Given the description of an element on the screen output the (x, y) to click on. 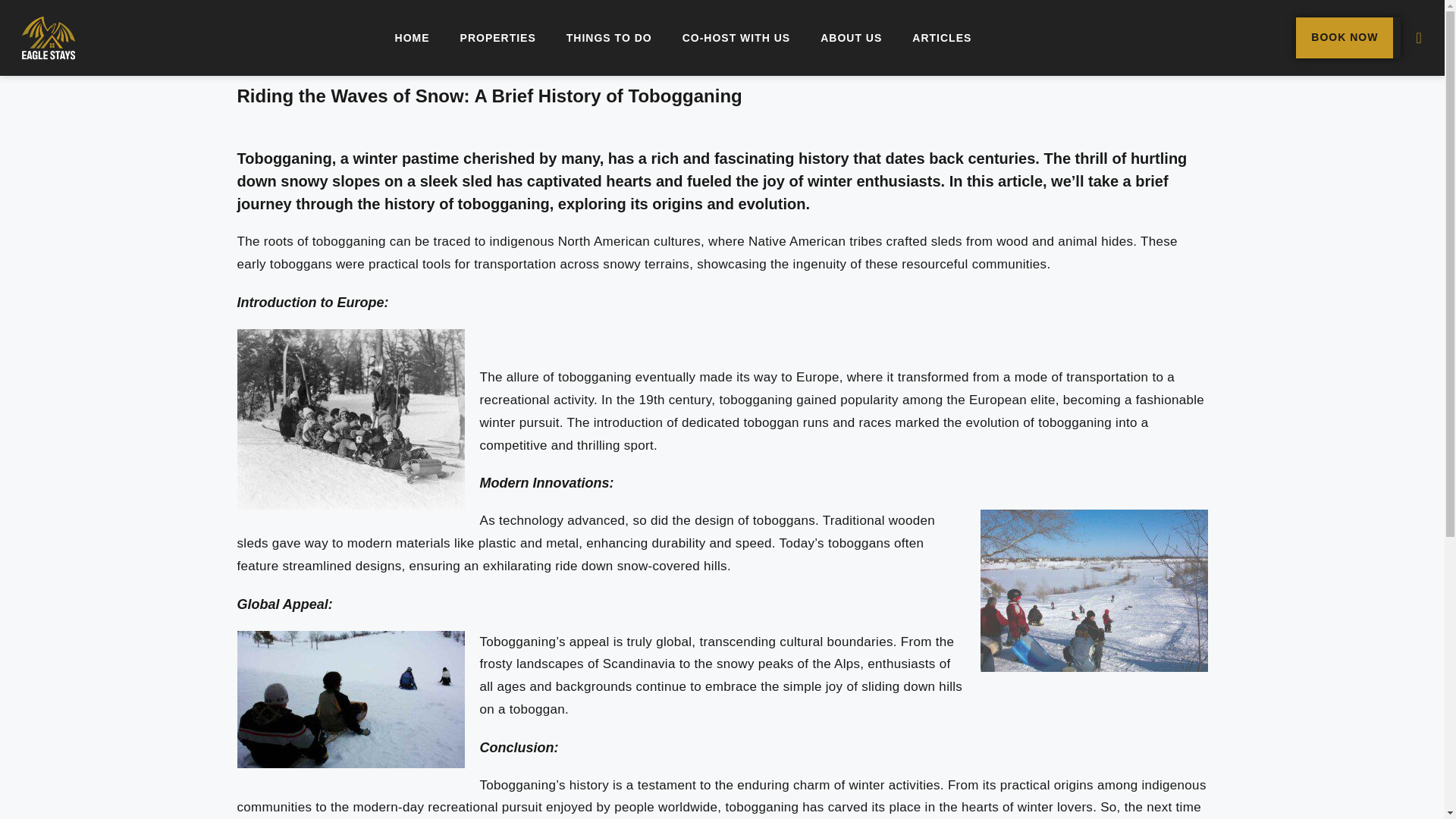
ABOUT US (850, 38)
BOOK NOW (1344, 37)
HOME (412, 38)
CO-HOST WITH US (736, 38)
PROPERTIES (498, 38)
ARTICLES (941, 38)
THINGS TO DO (608, 38)
